Given the description of an element on the screen output the (x, y) to click on. 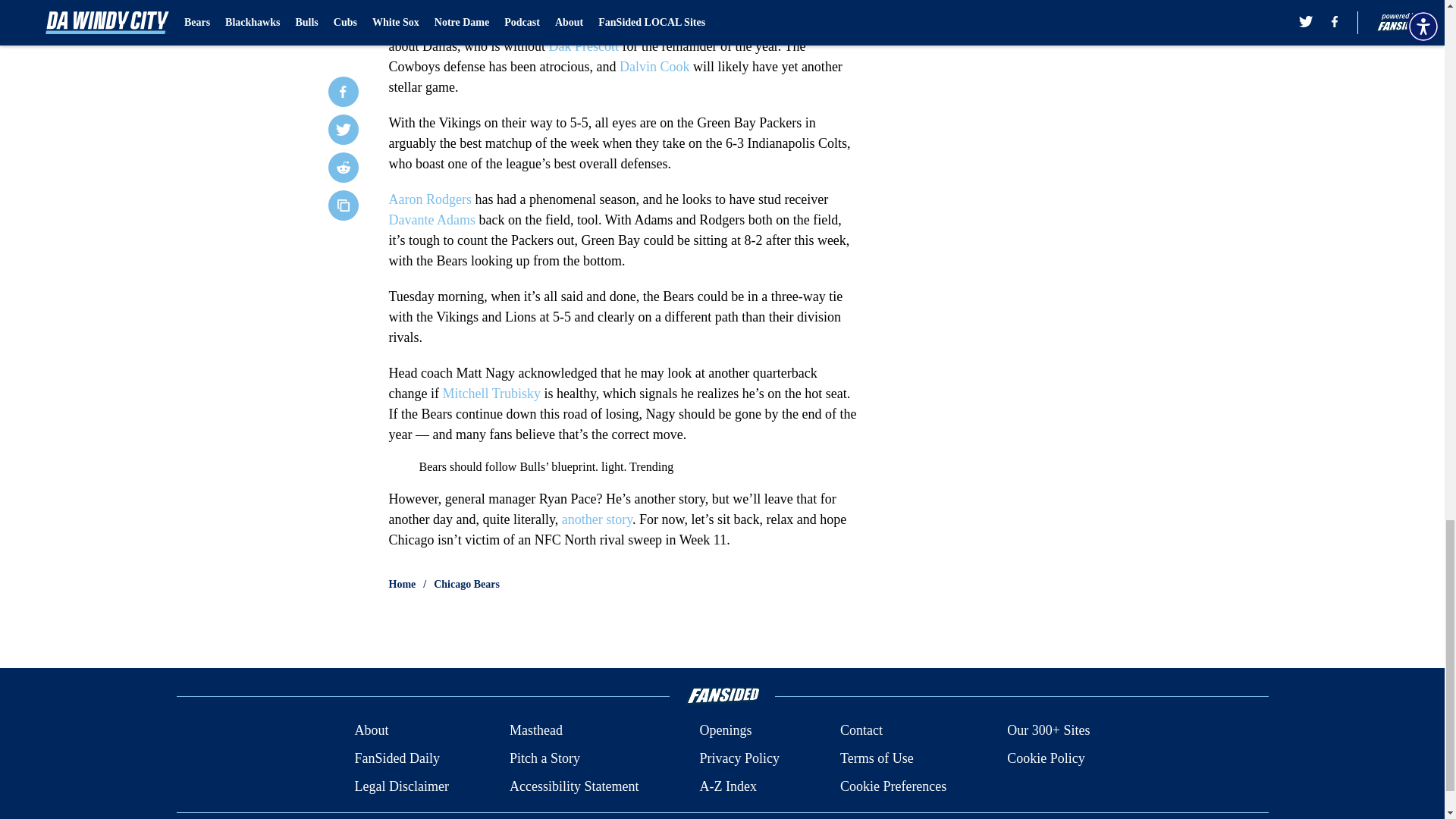
Home (401, 584)
Dalvin Cook (655, 66)
Dak Prescott (582, 46)
another story (596, 519)
Aaron Rodgers (429, 199)
Masthead (535, 730)
Contact (861, 730)
Chicago Bears (466, 584)
About (370, 730)
Mitchell Trubisky (491, 393)
Openings (724, 730)
Davante Adams (431, 219)
